Given the description of an element on the screen output the (x, y) to click on. 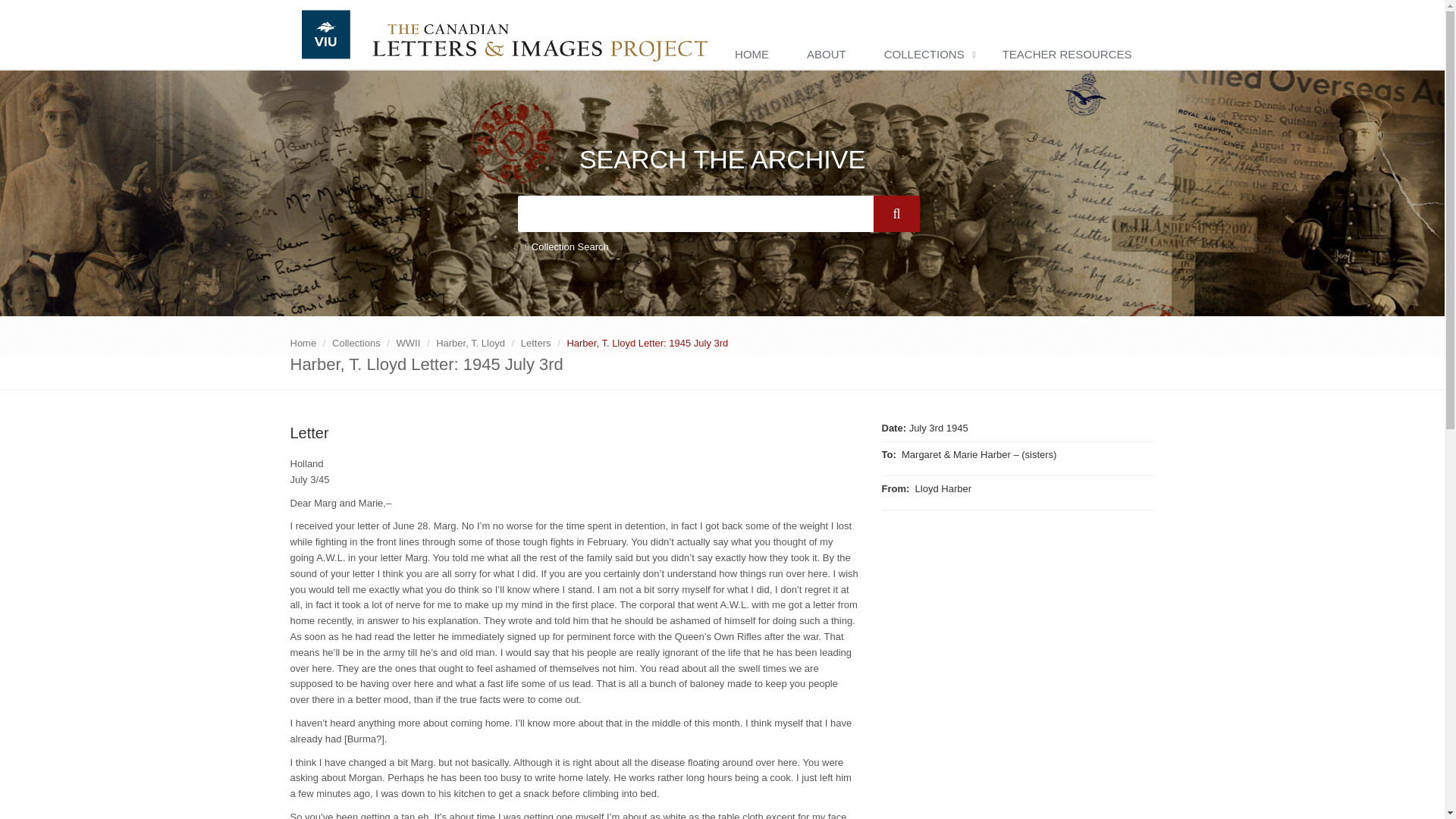
HOME (755, 55)
COLLECTIONS (928, 55)
Harber, T. Lloyd (470, 342)
WWII (408, 342)
Collections (355, 342)
Home (302, 342)
Collection Search (566, 247)
ABOUT (830, 55)
Enter the terms you wish to search for. (694, 213)
